Given the description of an element on the screen output the (x, y) to click on. 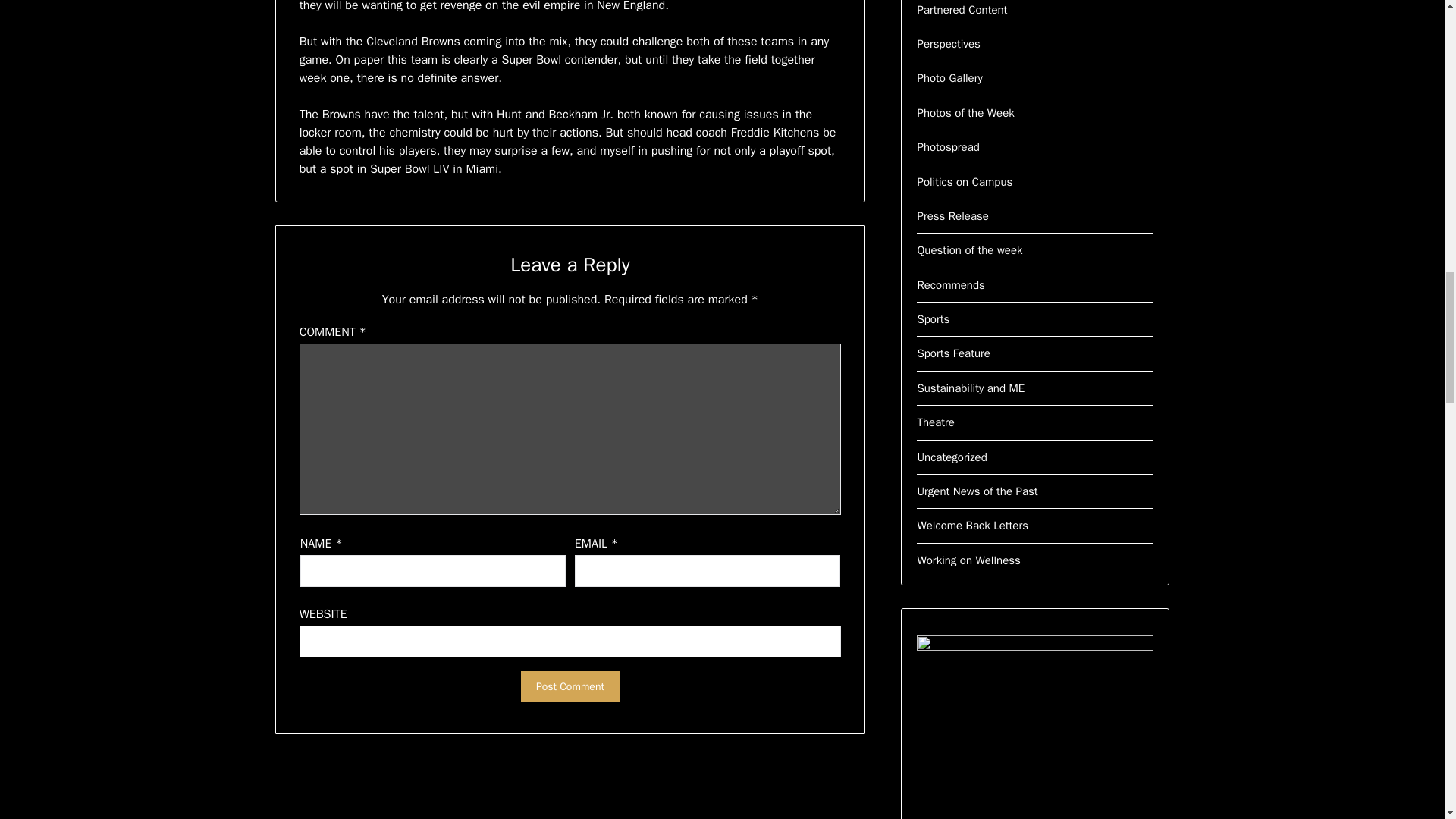
Post Comment (570, 685)
Post Comment (570, 685)
